Given the description of an element on the screen output the (x, y) to click on. 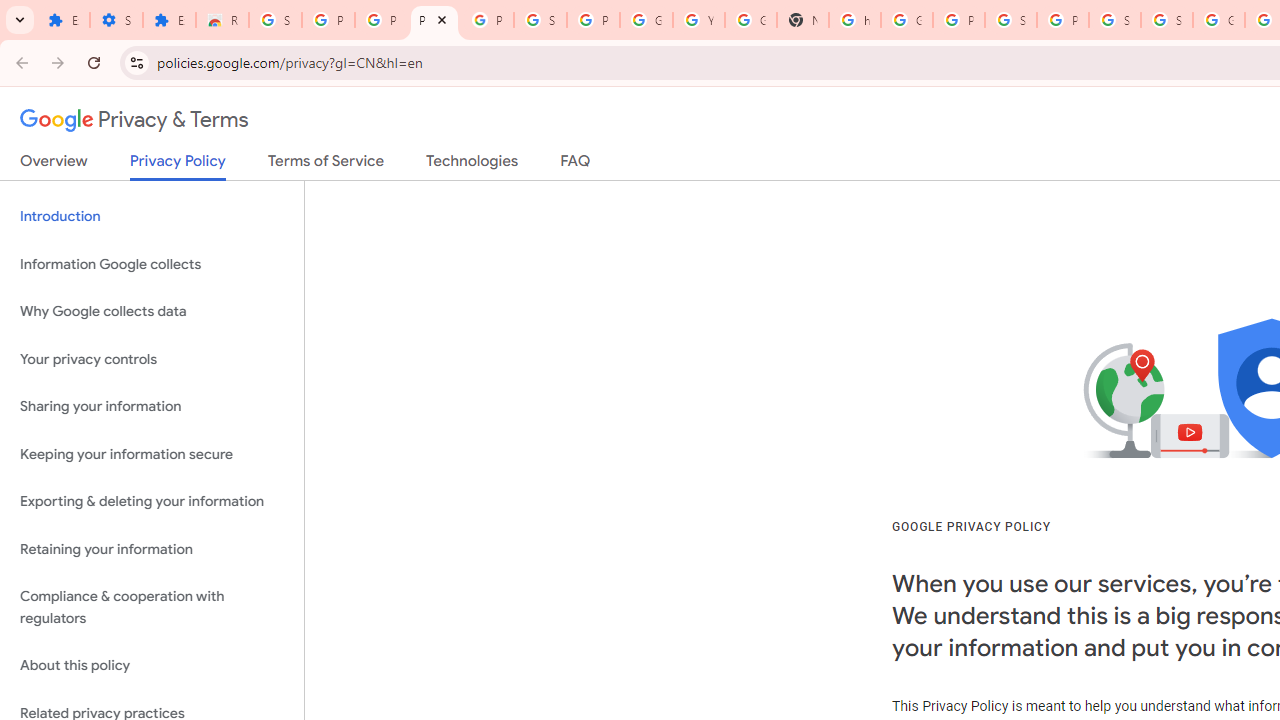
https://scholar.google.com/ (854, 20)
Extensions (169, 20)
Retaining your information (152, 548)
Reviews: Helix Fruit Jump Arcade Game (222, 20)
Extensions (63, 20)
